Given the description of an element on the screen output the (x, y) to click on. 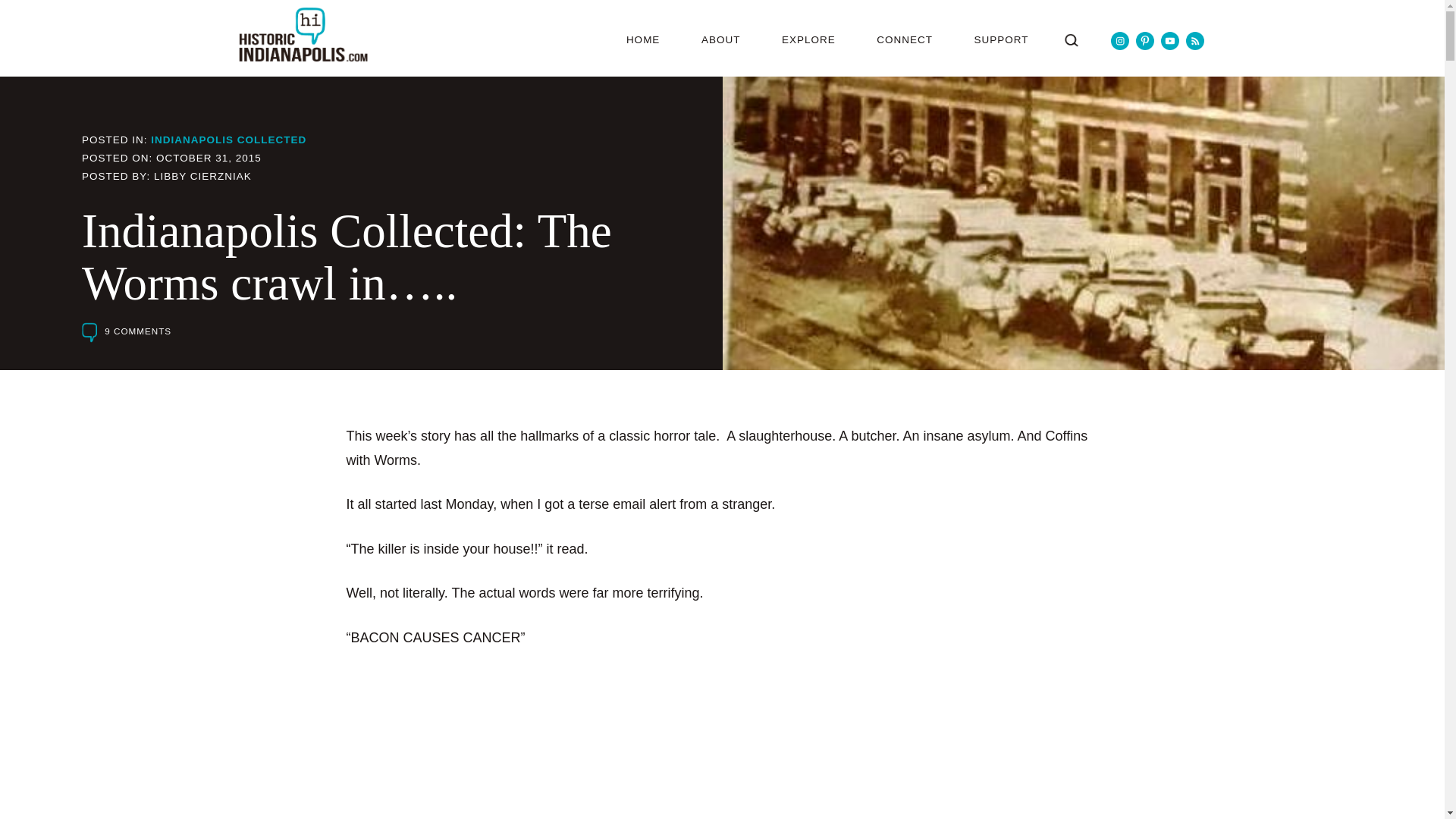
INDIANAPOLIS COLLECTED (228, 140)
SUPPORT (1001, 39)
HOME (643, 39)
9 COMMENTS (126, 332)
CONNECT (903, 39)
ABOUT (720, 39)
EXPLORE (808, 39)
Historic Indianapolis (302, 34)
